Given the description of an element on the screen output the (x, y) to click on. 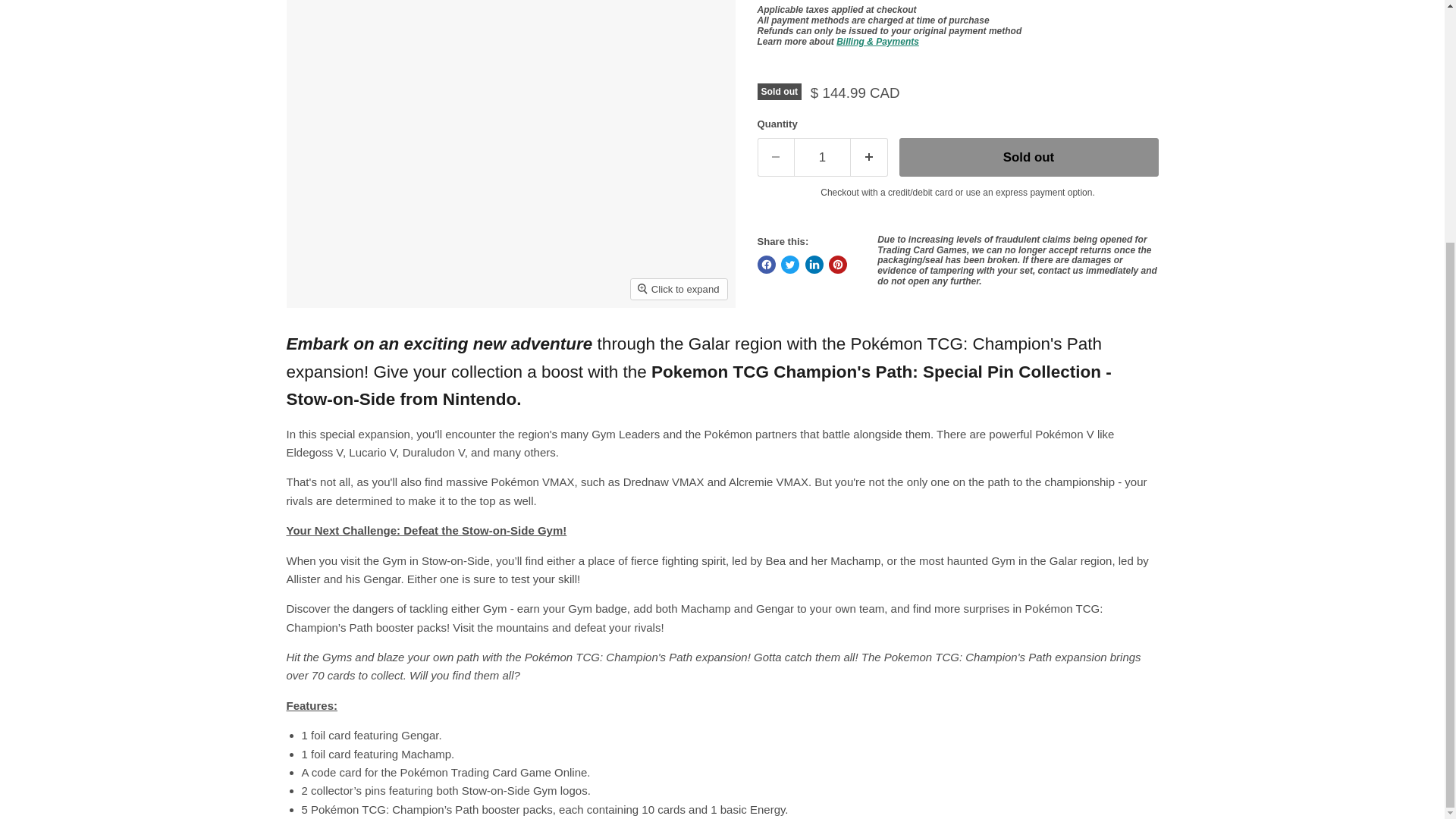
1 (821, 156)
